Given the description of an element on the screen output the (x, y) to click on. 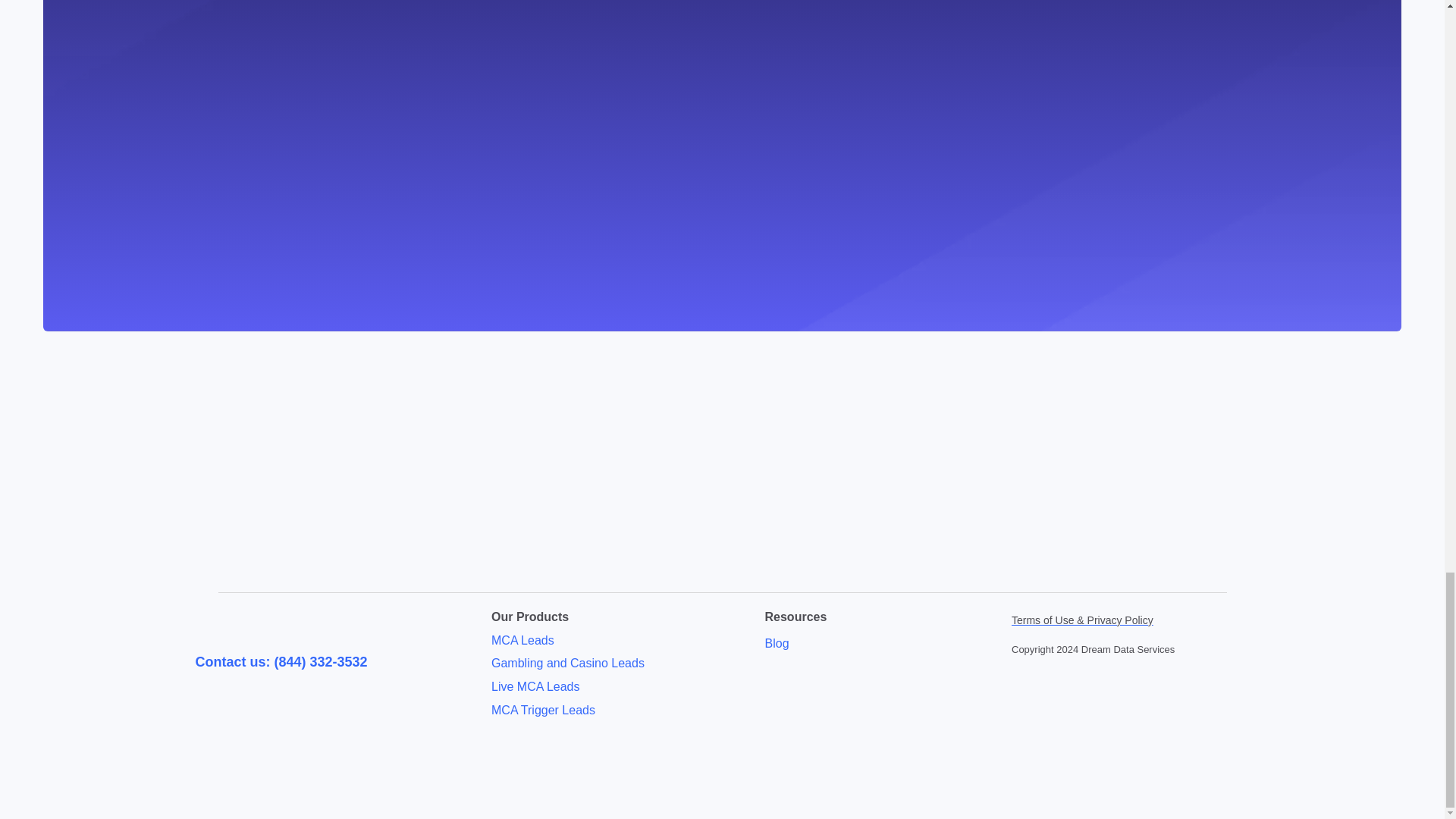
Gambling and Casino Leads (568, 662)
MCA Leads (523, 639)
Live MCA Leads (535, 686)
MCA Leads (523, 639)
Live MCA Leads (535, 686)
MCA Trigger Leads (543, 709)
